Given the description of an element on the screen output the (x, y) to click on. 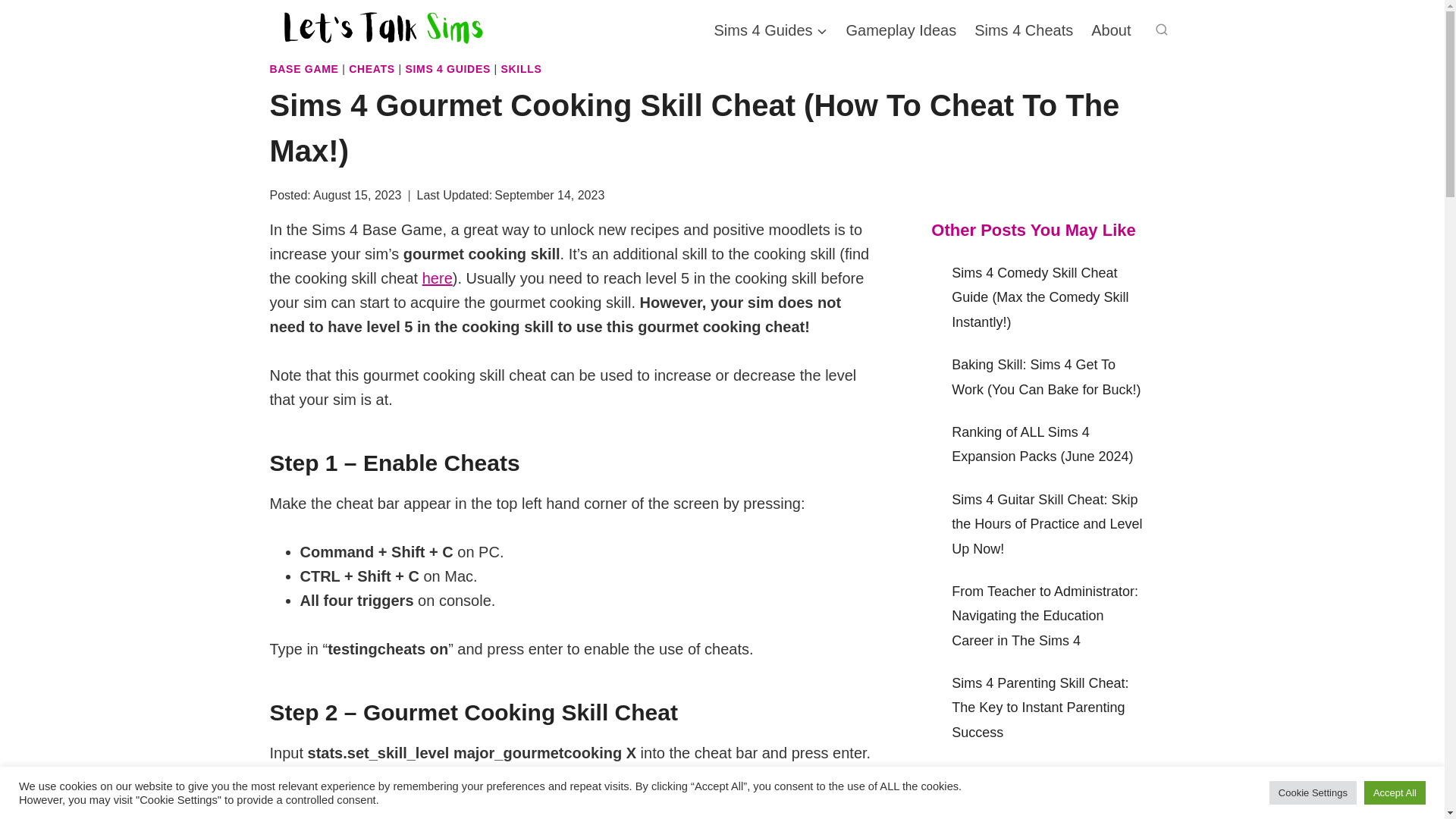
SIMS 4 GUIDES (447, 69)
CHEATS (371, 69)
SKILLS (520, 69)
here (437, 278)
Gameplay Ideas (901, 30)
About (1110, 30)
Sims 4 Cheats (1023, 30)
BASE GAME (304, 69)
Sims 4 Guides (769, 30)
